Given the description of an element on the screen output the (x, y) to click on. 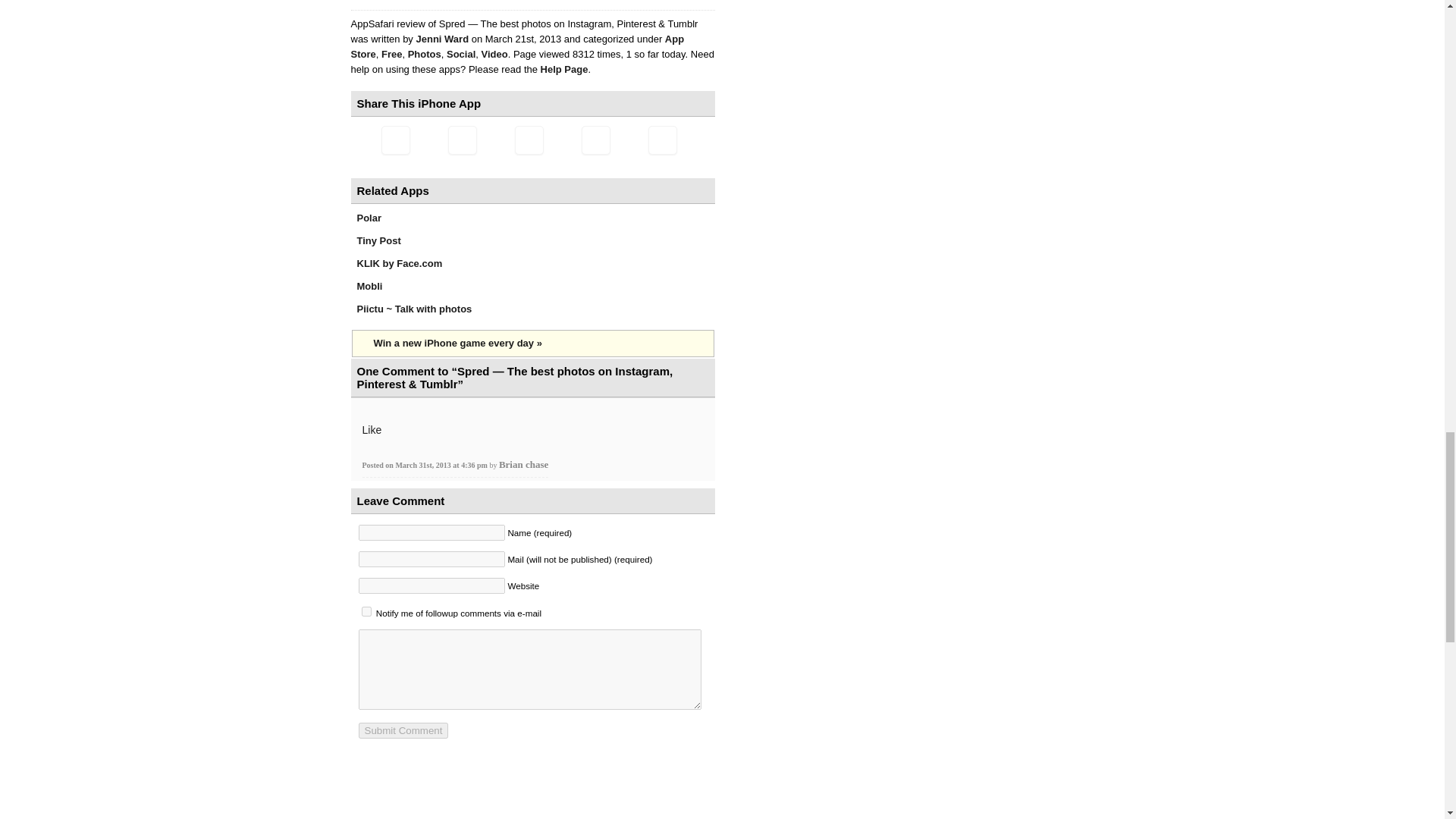
Facebook (528, 140)
Posted on March 31st, 2013 at 4:36 pm (425, 465)
del.icio.us (595, 140)
Email this app to a friend! (394, 140)
Video (493, 53)
Submit Comment (403, 730)
Brian chase (523, 464)
Tweet this iPhone app review (461, 140)
Mobli (368, 285)
subscribe (366, 611)
